Given the description of an element on the screen output the (x, y) to click on. 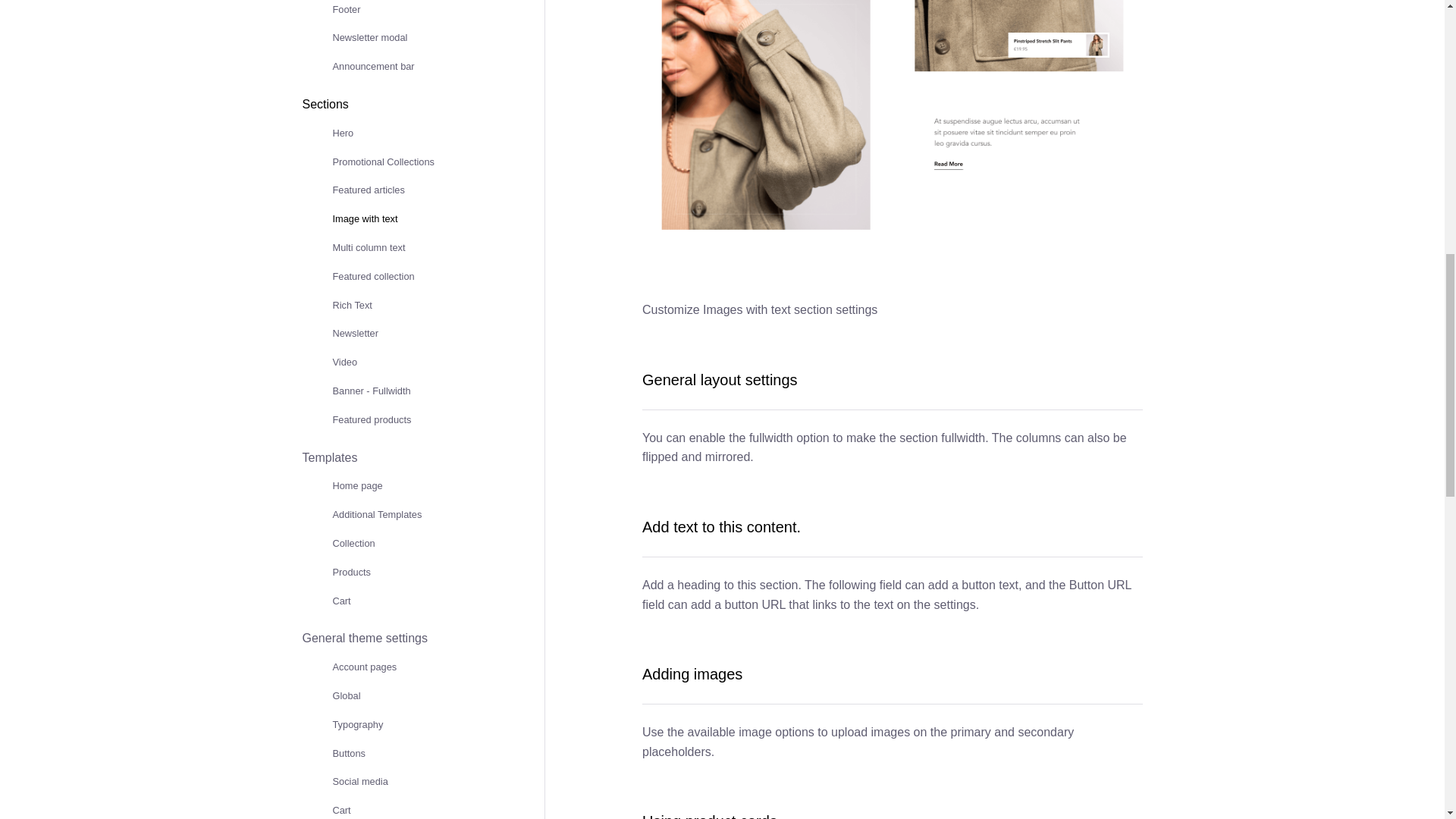
Footer (345, 9)
Newsletter modal (369, 37)
Rich Text (351, 305)
Featured collection (372, 276)
Newsletter (354, 333)
Featured articles (367, 189)
Image with text (364, 218)
Sections (324, 103)
Hero (342, 132)
Video (343, 361)
Multi column text (367, 247)
Promotional Collections (382, 161)
Banner - Fullwidth (370, 390)
Announcement bar (372, 66)
